Given the description of an element on the screen output the (x, y) to click on. 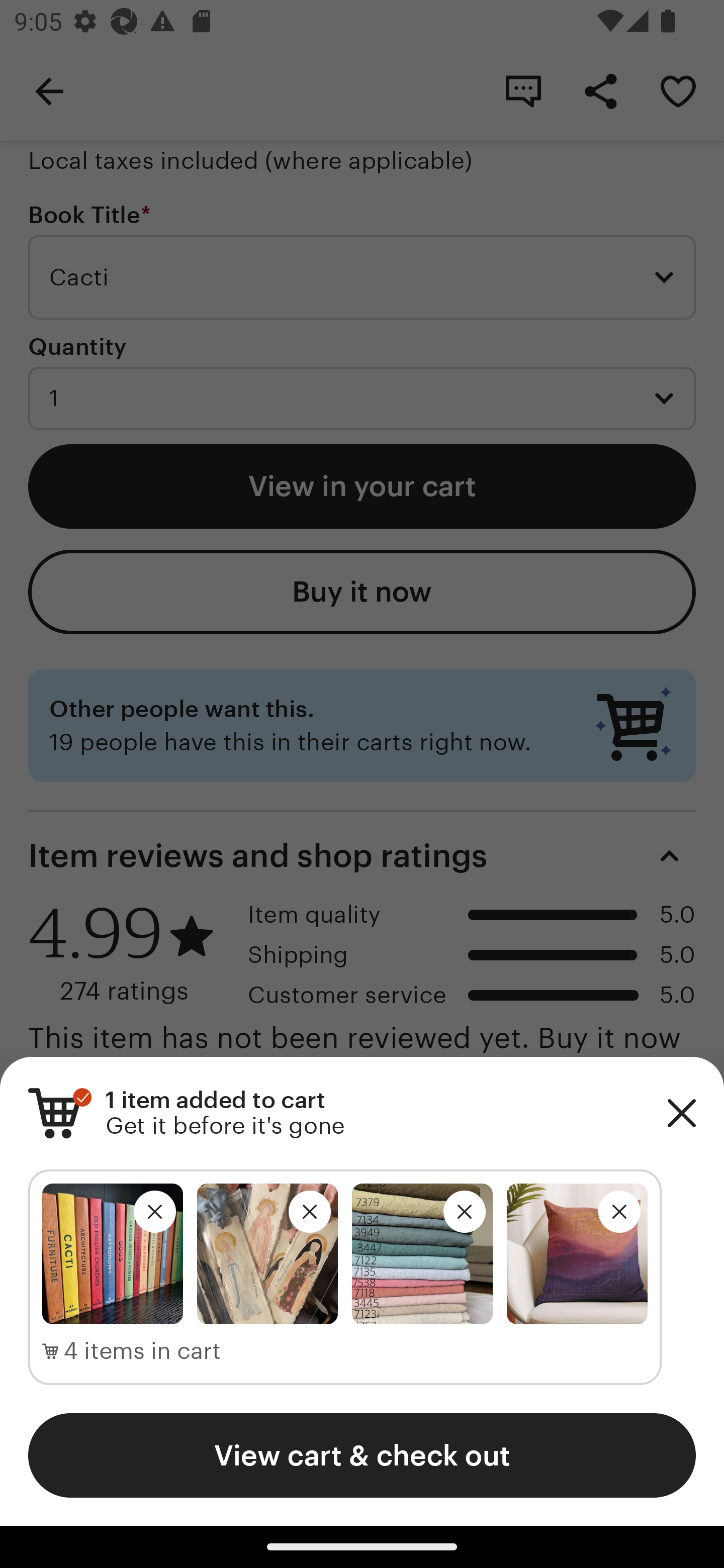
4 items in cart (131, 1351)
View cart & check out (361, 1454)
